Given the description of an element on the screen output the (x, y) to click on. 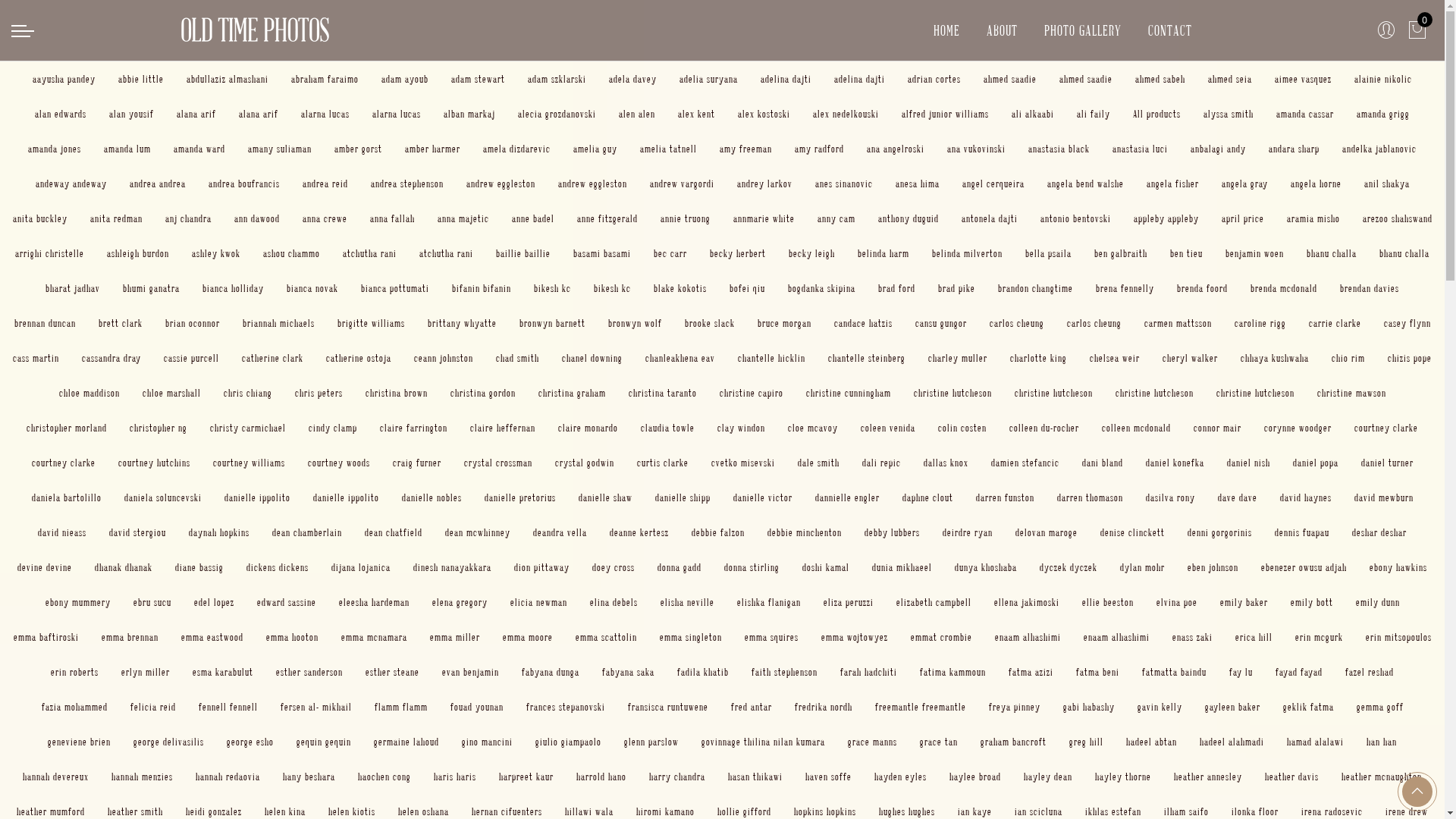
elena gregory Element type: text (459, 601)
erlyn miller Element type: text (145, 671)
curtis clarke Element type: text (662, 461)
cloe mcavoy Element type: text (812, 426)
fatma beni Element type: text (1097, 671)
faith stephenson Element type: text (784, 671)
ana vukovinski Element type: text (976, 147)
fazel reshad Element type: text (1369, 671)
bhanu challa Element type: text (1404, 252)
courtney williams Element type: text (248, 461)
flamm flamm Element type: text (400, 705)
colin costen Element type: text (962, 426)
hughes hughes Element type: text (906, 810)
ABOUT Element type: text (1001, 29)
haven soffe Element type: text (828, 775)
debbie falzon Element type: text (717, 531)
carlos cheung Element type: text (1015, 322)
geneviene brien Element type: text (78, 740)
ilham saifo Element type: text (1186, 810)
andrew eggleston Element type: text (592, 182)
cassie purcell Element type: text (191, 357)
esther sanderson Element type: text (309, 671)
anna crewe Element type: text (323, 217)
All products Element type: text (1156, 112)
daniel popa Element type: text (1314, 461)
enaam alhashimi Element type: text (1115, 636)
chris chiang Element type: text (246, 391)
amany suliaman Element type: text (279, 147)
heidi gonzalez Element type: text (213, 810)
bruce morgan Element type: text (783, 322)
blake kokotis Element type: text (679, 287)
bofei qiu Element type: text (747, 287)
chad smith Element type: text (517, 357)
charley muller Element type: text (957, 357)
aimee vasquez Element type: text (1302, 78)
ali faily Element type: text (1093, 112)
amanda grigg Element type: text (1382, 112)
dani bland Element type: text (1101, 461)
chanleakhena eav Element type: text (680, 357)
antonela dajti Element type: text (989, 217)
graham bancroft Element type: text (1013, 740)
amanda lum Element type: text (126, 147)
fransisca runtuwene Element type: text (667, 705)
ian scicluna Element type: text (1038, 810)
amanda ward Element type: text (199, 147)
dickens dickens Element type: text (277, 566)
anna majetic Element type: text (462, 217)
brittany whyatte Element type: text (461, 322)
daphne clout Element type: text (927, 496)
adelia suryana Element type: text (708, 78)
ahmed seia Element type: text (1230, 78)
dasilva rony Element type: text (1169, 496)
basami basami Element type: text (601, 252)
helen kiotis Element type: text (351, 810)
greg hill Element type: text (1086, 740)
ahmed saadie Element type: text (1009, 78)
candace hatzis Element type: text (863, 322)
harrold hano Element type: text (601, 775)
erin roberts Element type: text (74, 671)
dean chamberlain Element type: text (307, 531)
christine capiro Element type: text (750, 391)
dean mcwhinney Element type: text (477, 531)
dyczek dyczek Element type: text (1068, 566)
ebony hawkins Element type: text (1398, 566)
fadila khatib Element type: text (702, 671)
emma miller Element type: text (454, 636)
corynne woodger Element type: text (1297, 426)
han han Element type: text (1381, 740)
david haynes Element type: text (1305, 496)
andrey larkov Element type: text (764, 182)
alan yousif Element type: text (131, 112)
annie truong Element type: text (684, 217)
ahmed sabeh Element type: text (1160, 78)
atchutha rani Element type: text (369, 252)
amanda cassar Element type: text (1304, 112)
catherine ostoja Element type: text (358, 357)
anbalagi andy Element type: text (1217, 147)
adela davey Element type: text (632, 78)
hannah menzies Element type: text (141, 775)
courtney woods Element type: text (338, 461)
christine hutcheson Element type: text (1053, 391)
dion pittaway Element type: text (541, 566)
darren funston Element type: text (1004, 496)
emmat crombie Element type: text (940, 636)
fersen al- mikhail Element type: text (315, 705)
ann dawood Element type: text (256, 217)
edel lopez Element type: text (214, 601)
adam szklarski Element type: text (556, 78)
chantelle hicklin Element type: text (771, 357)
ilonka floor Element type: text (1254, 810)
amy radford Element type: text (819, 147)
emily dunn Element type: text (1377, 601)
darren thomason Element type: text (1090, 496)
delovan maroge Element type: text (1046, 531)
alex nedelkouski Element type: text (845, 112)
damien stefancic Element type: text (1024, 461)
colleen mcdonald Element type: text (1135, 426)
dunya khoshaba Element type: text (985, 566)
brennan duncan Element type: text (44, 322)
haylee broad Element type: text (975, 775)
donna gadd Element type: text (679, 566)
amelia guy Element type: text (595, 147)
claire heffernan Element type: text (502, 426)
ashleigh burdon Element type: text (137, 252)
fred antar Element type: text (751, 705)
germaine lahoud Element type: text (406, 740)
david nieass Element type: text (61, 531)
courtney clarke Element type: text (1386, 426)
andrea boufrancis Element type: text (243, 182)
april price Element type: text (1241, 217)
carrie clarke Element type: text (1334, 322)
colleen du-rocher Element type: text (1044, 426)
grace manns Element type: text (872, 740)
geklik fatma Element type: text (1308, 705)
crystal crossman Element type: text (498, 461)
anil shakya Element type: text (1385, 182)
hamad alalawi Element type: text (1314, 740)
alyssa smith Element type: text (1228, 112)
bikesh kc Element type: text (552, 287)
baillie baillie Element type: text (522, 252)
appleby appleby Element type: text (1165, 217)
hiromi kamano Element type: text (665, 810)
emma baftiroski Element type: text (45, 636)
chio rim Element type: text (1348, 357)
alex kent Element type: text (696, 112)
grace tan Element type: text (938, 740)
emma squires Element type: text (771, 636)
emily bott Element type: text (1311, 601)
david mewburn Element type: text (1383, 496)
CONTACT Element type: text (1170, 29)
elishka flanigan Element type: text (768, 601)
hayley thorne Element type: text (1123, 775)
emma singleton Element type: text (690, 636)
amber gorst Element type: text (358, 147)
alen alen Element type: text (636, 112)
ahmed saadie Element type: text (1085, 78)
atchutha rani Element type: text (446, 252)
farah hadchiti Element type: text (868, 671)
claire monardo Element type: text (588, 426)
fennell fennell Element type: text (227, 705)
debby lubbers Element type: text (891, 531)
debbie minchenton Element type: text (804, 531)
angela horne Element type: text (1315, 182)
freya pinney Element type: text (1014, 705)
christina graham Element type: text (571, 391)
david stergiou Element type: text (137, 531)
belinda milverton Element type: text (966, 252)
alainie nikolic Element type: text (1383, 78)
andrew eggleston Element type: text (499, 182)
christy carmichael Element type: text (247, 426)
hannah redaovia Element type: text (227, 775)
daniel konefka Element type: text (1174, 461)
elizabeth campbell Element type: text (933, 601)
hillawi wala Element type: text (588, 810)
bronwyn barnett Element type: text (551, 322)
george esho Element type: text (249, 740)
hayley dean Element type: text (1047, 775)
dallas knox Element type: text (945, 461)
felicia reid Element type: text (152, 705)
emma moore Element type: text (527, 636)
frances stepanovski Element type: text (565, 705)
briannah michaels Element type: text (278, 322)
harpreet kaur Element type: text (525, 775)
christopher morland Element type: text (66, 426)
cassandra dray Element type: text (111, 357)
courtney hutchins Element type: text (154, 461)
0 Element type: text (1417, 30)
erin mcgurk Element type: text (1319, 636)
daniela soluncevski Element type: text (162, 496)
hasan thikawi Element type: text (755, 775)
aayusha pandey Element type: text (63, 78)
fredrika nordh Element type: text (823, 705)
fayad fayad Element type: text (1298, 671)
hayden eyles Element type: text (900, 775)
alana arif Element type: text (258, 112)
fabyana dunga Element type: text (550, 671)
ian kaye Element type: text (974, 810)
anastasia luci Element type: text (1139, 147)
fatima kammoun Element type: text (952, 671)
amanda jones Element type: text (54, 147)
bronwyn wolf Element type: text (635, 322)
anita redman Element type: text (115, 217)
emma brennan Element type: text (129, 636)
bianca novak Element type: text (312, 287)
anesa hima Element type: text (916, 182)
chloe marshall Element type: text (171, 391)
aramia misho Element type: text (1312, 217)
esma karabulut Element type: text (222, 671)
charlotte king Element type: text (1038, 357)
dennis fuapau Element type: text (1301, 531)
hollie gifford Element type: text (744, 810)
christine hutcheson Element type: text (952, 391)
dunia mikhaeel Element type: text (901, 566)
haochen cong Element type: text (384, 775)
fabyana saka Element type: text (628, 671)
heather mumford Element type: text (50, 810)
bhanu challa Element type: text (1331, 252)
danielle ippolito Element type: text (345, 496)
bianca holliday Element type: text (232, 287)
coleen venida Element type: text (887, 426)
elisha neville Element type: text (686, 601)
bella psaila Element type: text (1048, 252)
christine hutcheson Element type: text (1153, 391)
fatmatta baindu Element type: text (1174, 671)
adam stewart Element type: text (478, 78)
irena radosevic Element type: text (1331, 810)
dinesh nanayakkara Element type: text (452, 566)
caroline rigg Element type: text (1260, 322)
harry chandra Element type: text (677, 775)
bec carr Element type: text (670, 252)
bifanin bifanin Element type: text (481, 287)
hopkins hopkins Element type: text (824, 810)
dhanak dhanak Element type: text (123, 566)
brett clark Element type: text (120, 322)
abraham faraimo Element type: text (324, 78)
haris haris Element type: text (454, 775)
arezoo shahswand Element type: text (1396, 217)
craig furner Element type: text (416, 461)
erica hill Element type: text (1252, 636)
gabi habashy Element type: text (1088, 705)
courtney clarke Element type: text (63, 461)
gavin kelly Element type: text (1159, 705)
dale smith Element type: text (818, 461)
chris peters Element type: text (318, 391)
heather davis Element type: text (1291, 775)
danielle pretorius Element type: text (519, 496)
chizis pope Element type: text (1409, 357)
andelka jablanovic Element type: text (1379, 147)
brenda foord Element type: text (1201, 287)
ben galbraith Element type: text (1120, 252)
clay windon Element type: text (741, 426)
amelia tatnell Element type: text (668, 147)
brad pike Element type: text (956, 287)
connor mair Element type: text (1217, 426)
donna stirling Element type: text (751, 566)
alex kostoski Element type: text (763, 112)
emma mcnamara Element type: text (374, 636)
doshi kamal Element type: text (825, 566)
ben tieu Element type: text (1186, 252)
devine devine Element type: text (44, 566)
danielle victor Element type: text (761, 496)
angela fisher Element type: text (1172, 182)
andrea reid Element type: text (324, 182)
amela dizdarevic Element type: text (516, 147)
emma wojtowyez Element type: text (853, 636)
denni gorgorinis Element type: text (1219, 531)
dannielle engler Element type: text (846, 496)
ebony mummery Element type: text (77, 601)
fouad younan Element type: text (476, 705)
dali repic Element type: text (880, 461)
emma eastwood Element type: text (211, 636)
alarna lucas Element type: text (396, 112)
evan benjamin Element type: text (470, 671)
amber harmer Element type: text (432, 147)
bogdanka skipina Element type: text (821, 287)
cindy clamp Element type: text (332, 426)
christina brown Element type: text (396, 391)
annmarie white Element type: text (762, 217)
daniel nish Element type: text (1248, 461)
ashley kwok Element type: text (215, 252)
glenn parslow Element type: text (651, 740)
christine hutcheson Element type: text (1255, 391)
ali alkaabi Element type: text (1032, 112)
ashou chammo Element type: text (291, 252)
alan edwards Element type: text (60, 112)
enaam alhashimi Element type: text (1027, 636)
brooke slack Element type: text (709, 322)
elina debels Element type: text (613, 601)
gino mancini Element type: text (486, 740)
HOME Element type: text (946, 29)
deirdre ryan Element type: text (967, 531)
belinda harm Element type: text (883, 252)
daynah hopkins Element type: text (218, 531)
brad ford Element type: text (896, 287)
andrew vargordi Element type: text (681, 182)
christopher ng Element type: text (158, 426)
esther steane Element type: text (392, 671)
danielle shaw Element type: text (604, 496)
adrian cortes Element type: text (933, 78)
chantelle steinberg Element type: text (866, 357)
elicia newman Element type: text (537, 601)
cheryl walker Element type: text (1189, 357)
anastasia black Element type: text (1058, 147)
anne fitzgerald Element type: text (606, 217)
helen oshana Element type: text (423, 810)
crystal godwin Element type: text (584, 461)
angela gray Element type: text (1243, 182)
enass zaki Element type: text (1192, 636)
dylan mohr Element type: text (1142, 566)
chhaya kushwaha Element type: text (1274, 357)
bharat jadhav Element type: text (72, 287)
brenda mcdonald Element type: text (1283, 287)
eleesha hardeman Element type: text (373, 601)
giulio giampaolo Element type: text (568, 740)
anthony duguid Element type: text (908, 217)
gemma goff Element type: text (1378, 705)
chloe maddison Element type: text (89, 391)
irene drew Element type: text (1406, 810)
alana arif Element type: text (196, 112)
daniela bartolillo Element type: text (66, 496)
brian oconnor Element type: text (192, 322)
ellie beeston Element type: text (1106, 601)
amy freeman Element type: text (745, 147)
daniel turner Element type: text (1386, 461)
danielle shipp Element type: text (682, 496)
fay lu Element type: text (1240, 671)
alarna lucas Element type: text (325, 112)
george delivasilis Element type: text (168, 740)
becky leigh Element type: text (811, 252)
andrea andrea Element type: text (156, 182)
anes sinanovic Element type: text (843, 182)
ellena jakimoski Element type: text (1025, 601)
danielle nobles Element type: text (431, 496)
andara sharp Element type: text (1293, 147)
abdullaziz almashani Element type: text (227, 78)
deandra vella Element type: text (559, 531)
govinnage thilina nilan kumara Element type: text (763, 740)
ana angelroski Element type: text (895, 147)
helen kina Element type: text (284, 810)
claudia towle Element type: text (667, 426)
christina taranto Element type: text (661, 391)
cvetko misevski Element type: text (743, 461)
ebru sucu Element type: text (152, 601)
christine cunningham Element type: text (847, 391)
brigitte williams Element type: text (370, 322)
carlos cheung Element type: text (1093, 322)
adelina dajti Element type: text (859, 78)
alfred junior williams Element type: text (944, 112)
fazia mohammed Element type: text (73, 705)
emma scattolin Element type: text (605, 636)
eben johnson Element type: text (1212, 566)
denise clinckett Element type: text (1132, 531)
elvina poe Element type: text (1175, 601)
bianca pottumati Element type: text (394, 287)
dean chatfield Element type: text (393, 531)
deanne kertesz Element type: text (638, 531)
deshar deshar Element type: text (1379, 531)
angela bend walshe Element type: text (1084, 182)
benjamin woen Element type: text (1254, 252)
edward sassine Element type: text (285, 601)
becky herbert Element type: text (737, 252)
brandon changtime Element type: text (1035, 287)
anj chandra Element type: text (188, 217)
bikesh kc Element type: text (611, 287)
anita buckley Element type: text (39, 217)
hany beshara Element type: text (308, 775)
erin mitsopoulos Element type: text (1397, 636)
danielle ippolito Element type: text (257, 496)
carmen mattsson Element type: text (1177, 322)
dave dave Element type: text (1237, 496)
adelina dajti Element type: text (785, 78)
alecia grozdanovski Element type: text (556, 112)
freemantle freemantle Element type: text (920, 705)
emily baker Element type: text (1243, 601)
casey flynn Element type: text (1406, 322)
anna fallah Element type: text (392, 217)
gayleen baker Element type: text (1231, 705)
cass martin Element type: text (35, 357)
eliza peruzzi Element type: text (848, 601)
dijana lojanica Element type: text (360, 566)
hernan cifuenters Element type: text (506, 810)
doey cross Element type: text (613, 566)
brendan davies Element type: text (1369, 287)
alban markaj Element type: text (469, 112)
claire farrington Element type: text (413, 426)
anny cam Element type: text (836, 217)
bhumi ganatra Element type: text (150, 287)
chelsea weir Element type: text (1114, 357)
andeway andeway Element type: text (70, 182)
brena fennelly Element type: text (1124, 287)
fatma azizi Element type: text (1030, 671)
catherine clark Element type: text (272, 357)
christine mawson Element type: text (1350, 391)
ikhlas estefan Element type: text (1113, 810)
ceann johnston Element type: text (443, 357)
hannah devereux Element type: text (55, 775)
christina gordon Element type: text (482, 391)
hadeel alahmadi Element type: text (1231, 740)
PHOTO GALLERY Element type: text (1082, 29)
antonio bentovski Element type: text (1075, 217)
emma hooton Element type: text (291, 636)
heather annesley Element type: text (1207, 775)
heather mcnaughton Element type: text (1381, 775)
diane bassig Element type: text (199, 566)
anne badel Element type: text (532, 217)
heather smith Element type: text (135, 810)
andrea stephenson Element type: text (406, 182)
hadeel abtan Element type: text (1151, 740)
abbie little Element type: text (140, 78)
adam ayoub Element type: text (404, 78)
ebenezer owusu adjah Element type: text (1303, 566)
gequin gequin Element type: text (323, 740)
chanel downing Element type: text (591, 357)
cansu gungor Element type: text (940, 322)
arrighi christelle Element type: text (49, 252)
angel cerqueira Element type: text (992, 182)
